Given the description of an element on the screen output the (x, y) to click on. 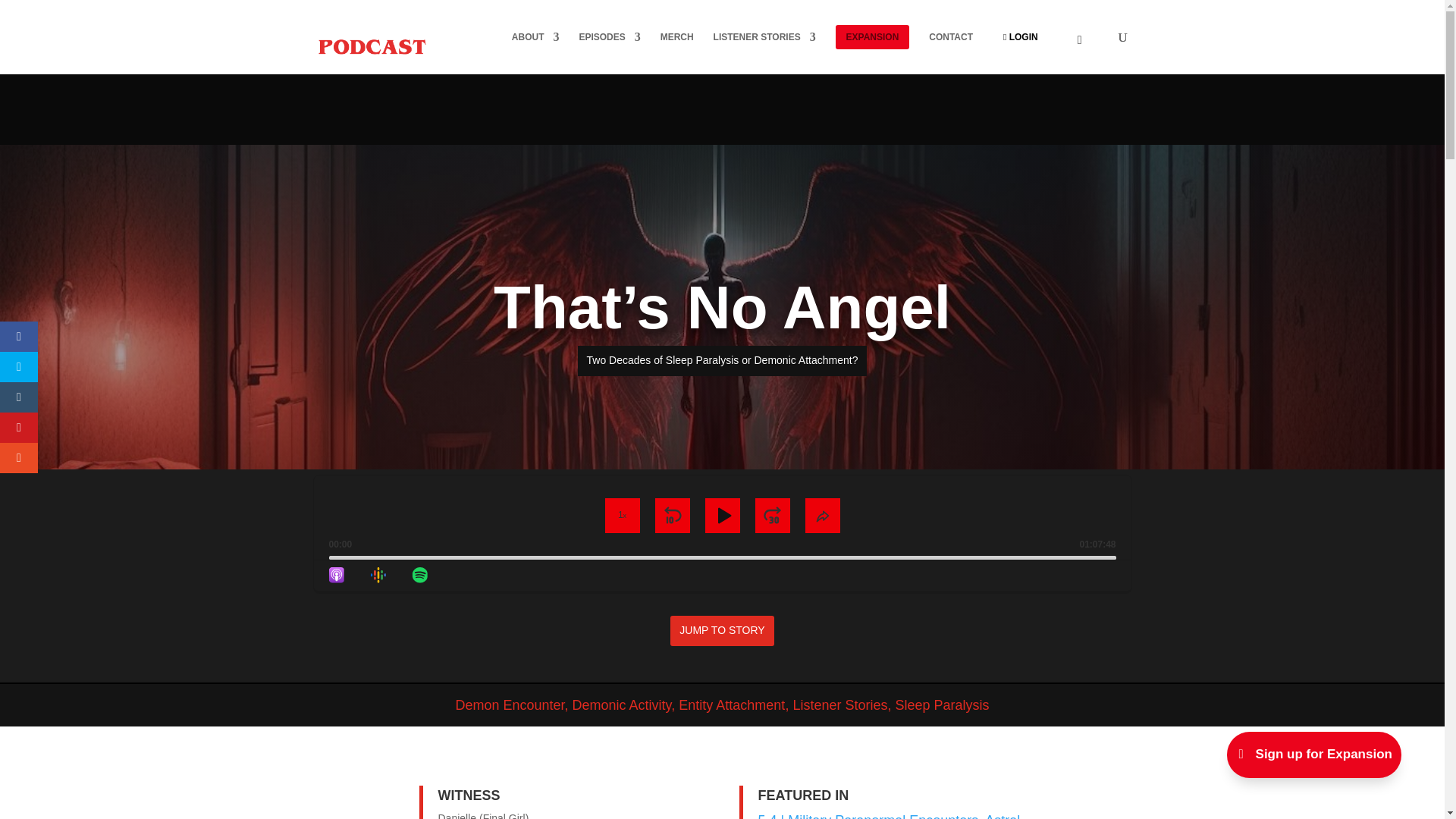
CONTACT (950, 49)
ABOUT (535, 49)
EXPANSION (872, 49)
EPISODES (609, 49)
MERCH (677, 49)
LISTENER STORIES (764, 49)
